Given the description of an element on the screen output the (x, y) to click on. 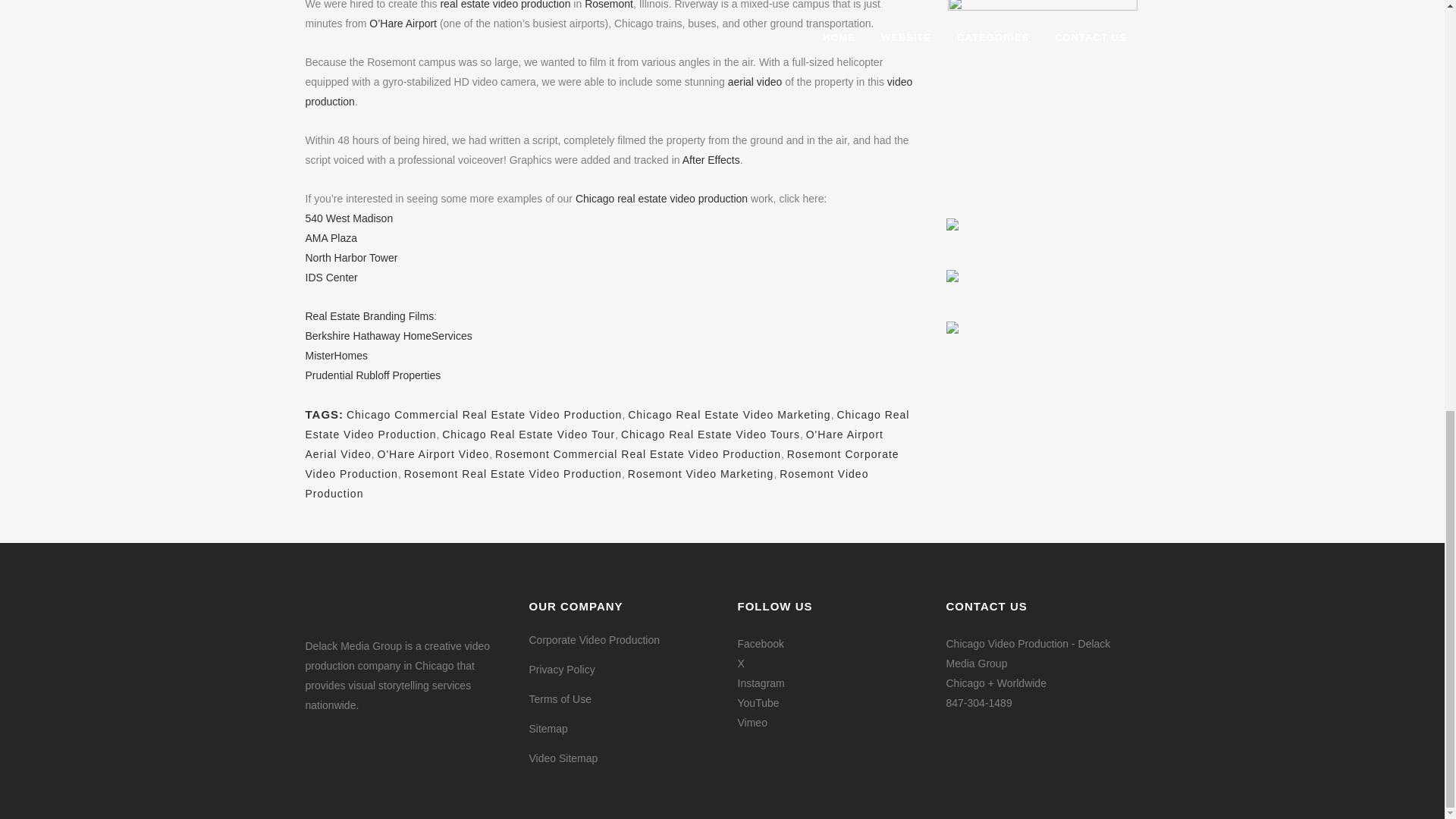
MisterHomes (335, 355)
Berkshire Hathaway HomeServices (387, 336)
AMA Plaza (330, 237)
Rosemont (609, 4)
video production (608, 91)
Real Estate Branding Films (368, 316)
video production (531, 4)
Prudential Rubloff Properties (372, 375)
540 West Madison (348, 218)
real estate (464, 4)
